Given the description of an element on the screen output the (x, y) to click on. 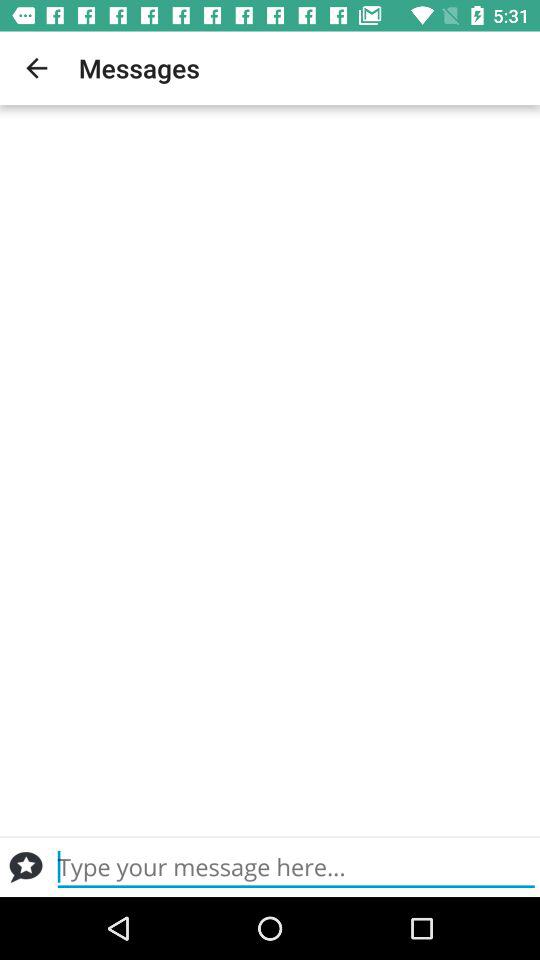
select emoticon (26, 867)
